Given the description of an element on the screen output the (x, y) to click on. 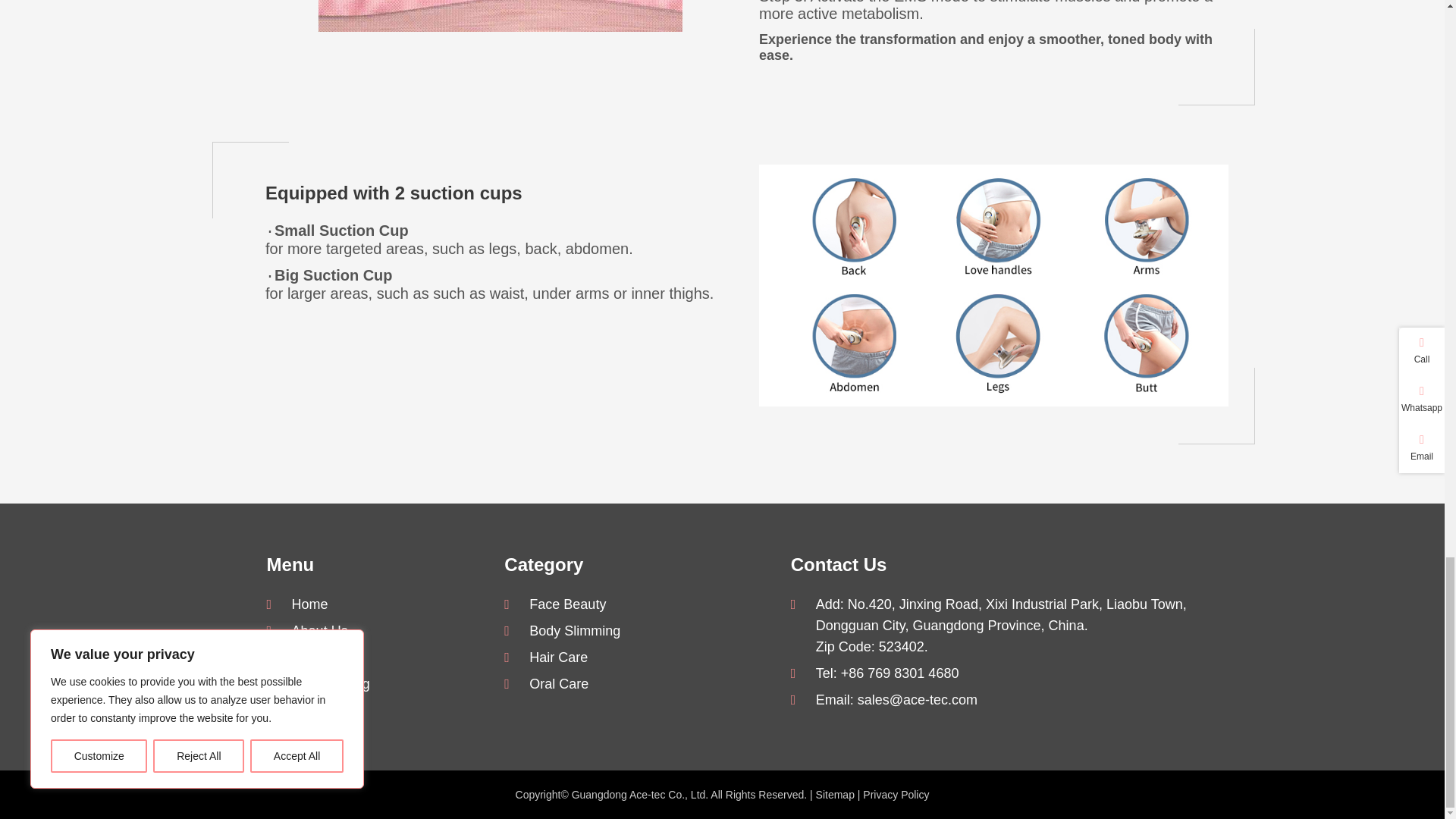
Home (371, 604)
About Us (371, 630)
